Given the description of an element on the screen output the (x, y) to click on. 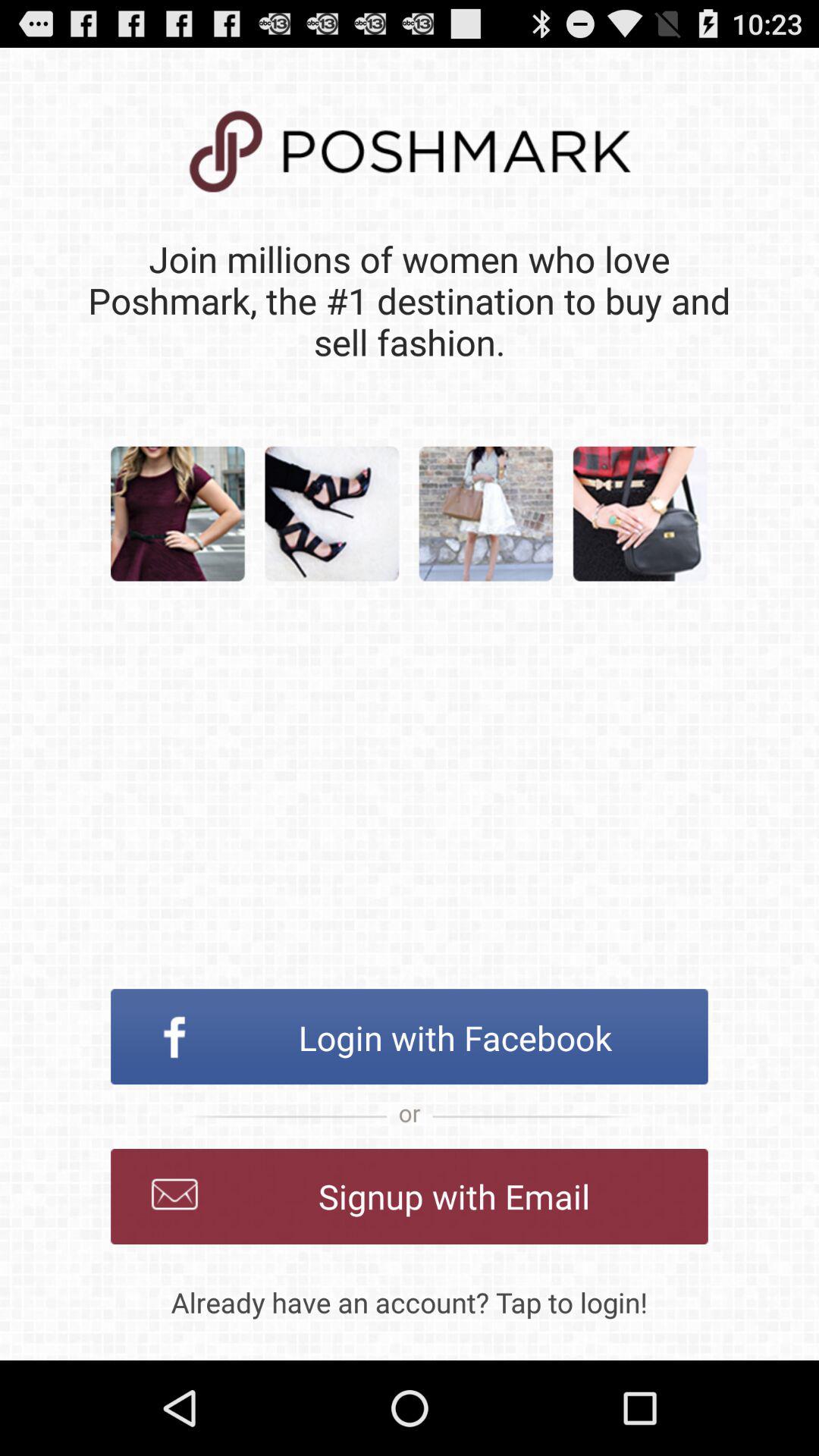
tap the login with facebook (409, 1036)
